Given the description of an element on the screen output the (x, y) to click on. 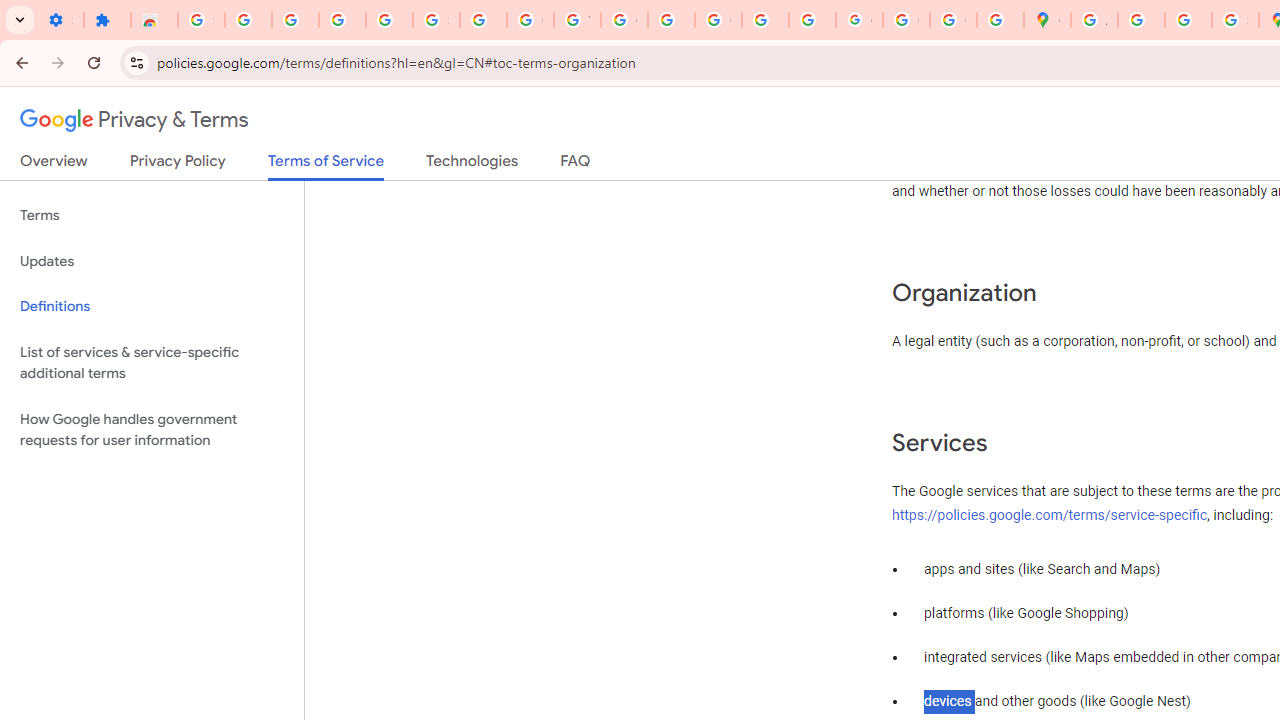
List of services & service-specific additional terms (152, 362)
How Google handles government requests for user information (152, 429)
https://scholar.google.com/ (671, 20)
YouTube (577, 20)
